Given the description of an element on the screen output the (x, y) to click on. 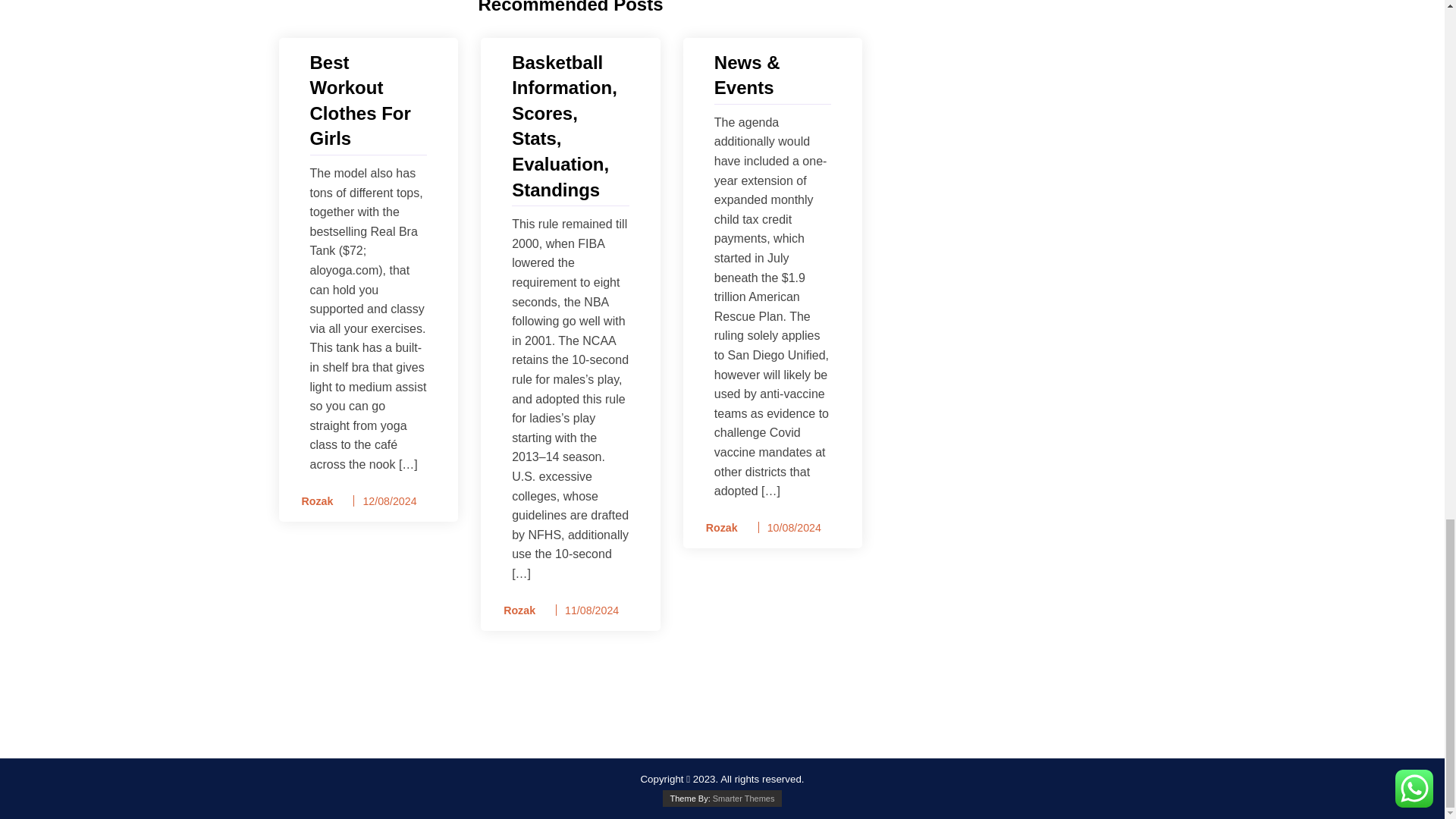
Rozak (514, 610)
Best Workout Clothes For Girls (367, 100)
Rozak (716, 528)
Rozak (312, 501)
